Given the description of an element on the screen output the (x, y) to click on. 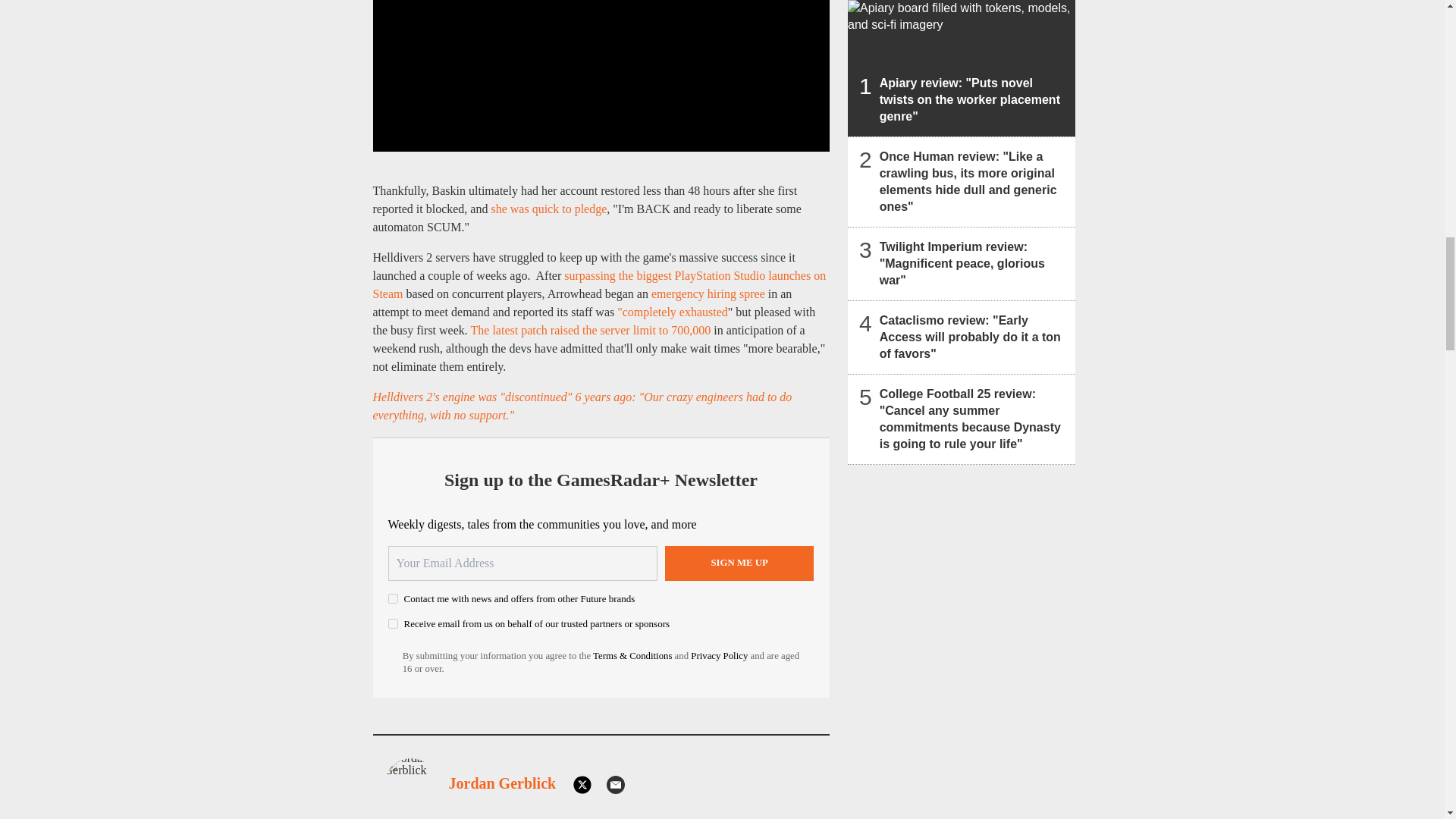
on (392, 623)
on (392, 598)
Sign me up (739, 563)
